Given the description of an element on the screen output the (x, y) to click on. 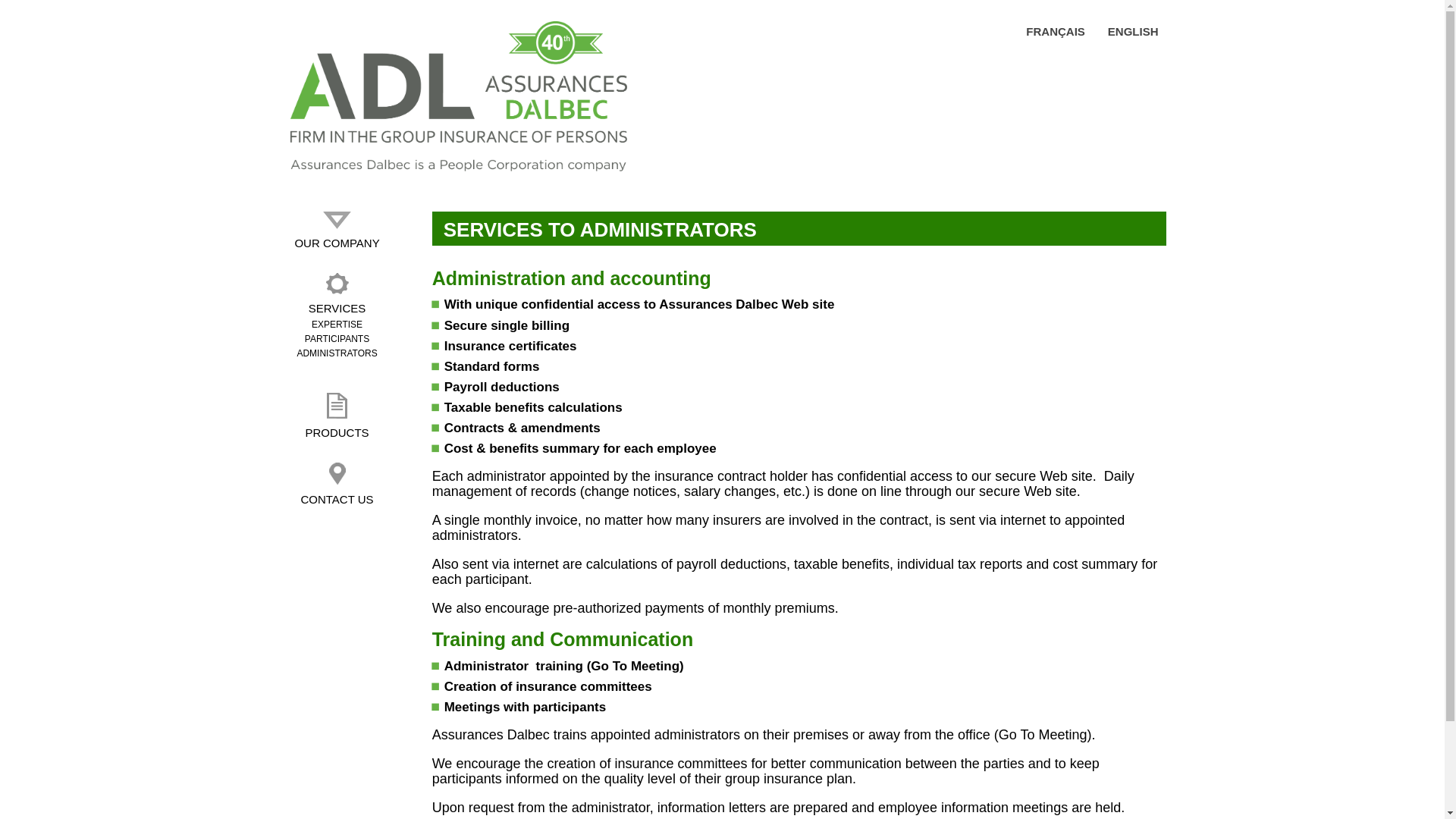
ENGLISH Element type: text (1133, 30)
EXPERTISE Element type: text (337, 324)
Skip to main content Element type: text (66, 22)
CONTACT US Element type: text (337, 484)
OUR COMPANY Element type: text (337, 230)
PRODUCTS Element type: text (337, 415)
SERVICES Element type: text (337, 294)
ADMINISTRATORS Element type: text (337, 353)
PARTICIPANTS Element type: text (337, 338)
